Given the description of an element on the screen output the (x, y) to click on. 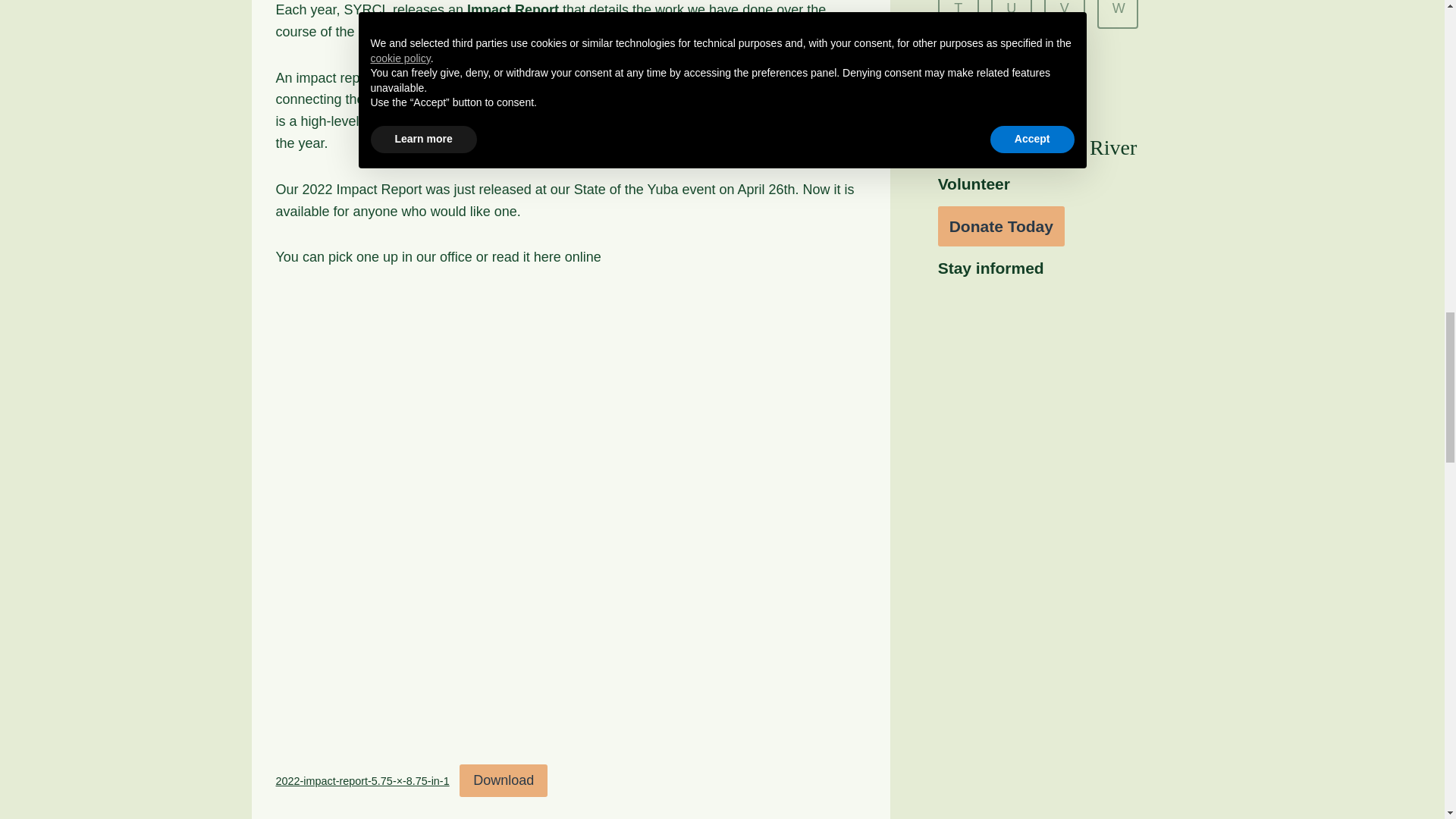
Download (503, 780)
